Given the description of an element on the screen output the (x, y) to click on. 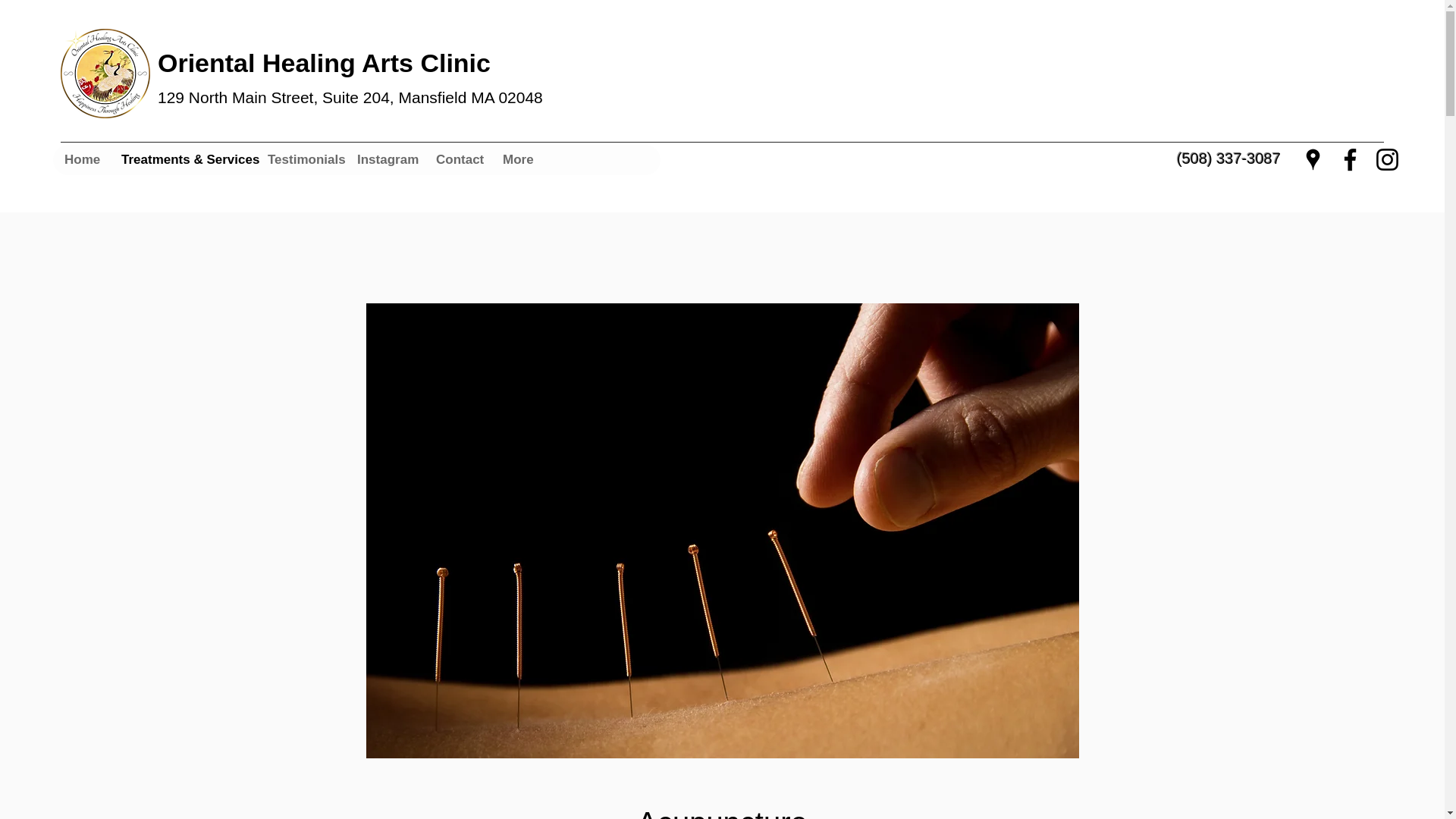
Home (80, 159)
Contact (456, 159)
Testimonials (300, 159)
Instagram (384, 159)
